Given the description of an element on the screen output the (x, y) to click on. 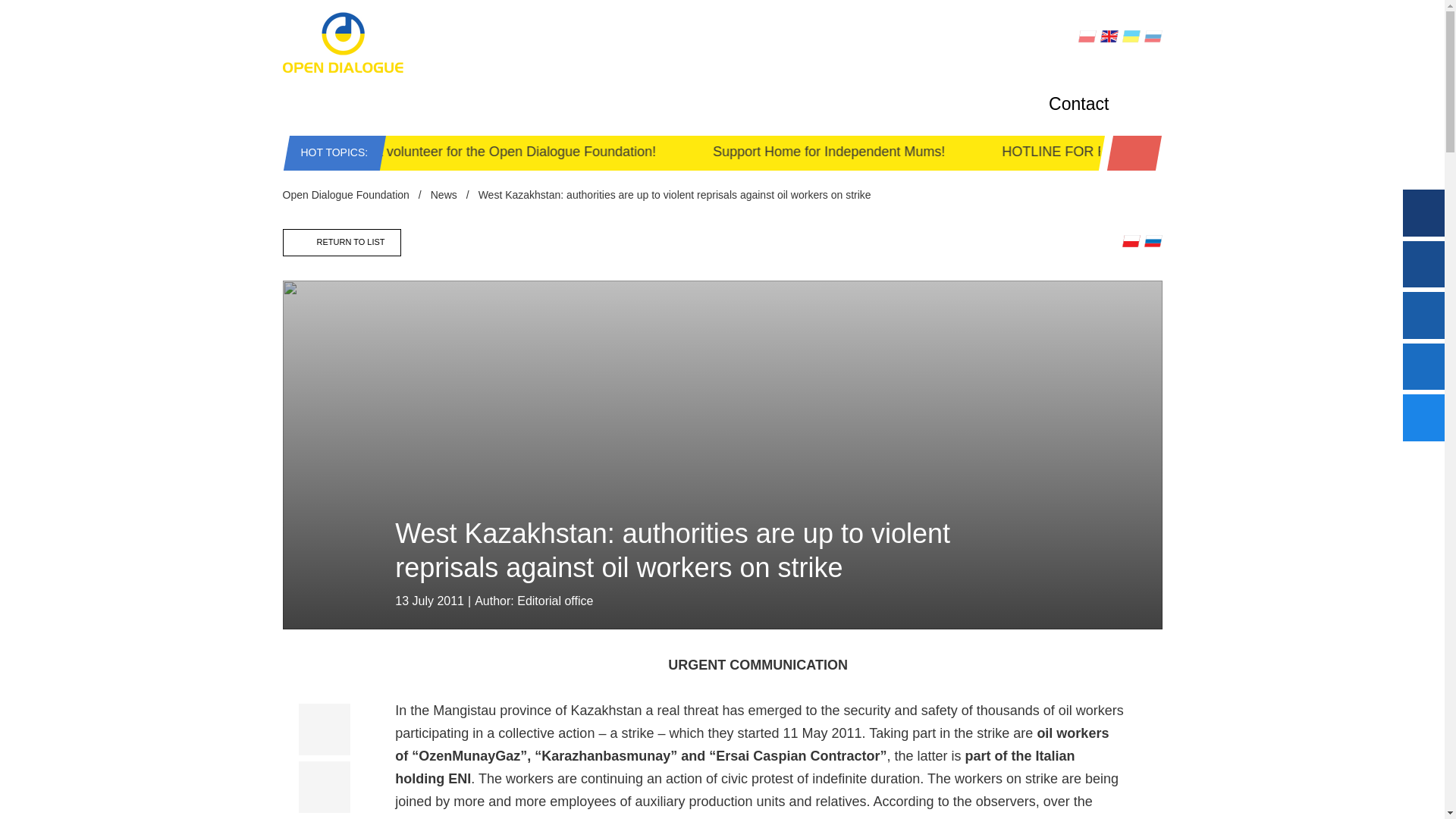
Go to Open Dialogue Foundation. (345, 194)
English (1108, 36)
TWITTER (799, 37)
Publications (758, 104)
News (439, 104)
INSTAGRAM (901, 37)
FACEBOOK (700, 37)
Polski (1087, 36)
Foundation (341, 104)
YOUTUBE (1002, 37)
